Given the description of an element on the screen output the (x, y) to click on. 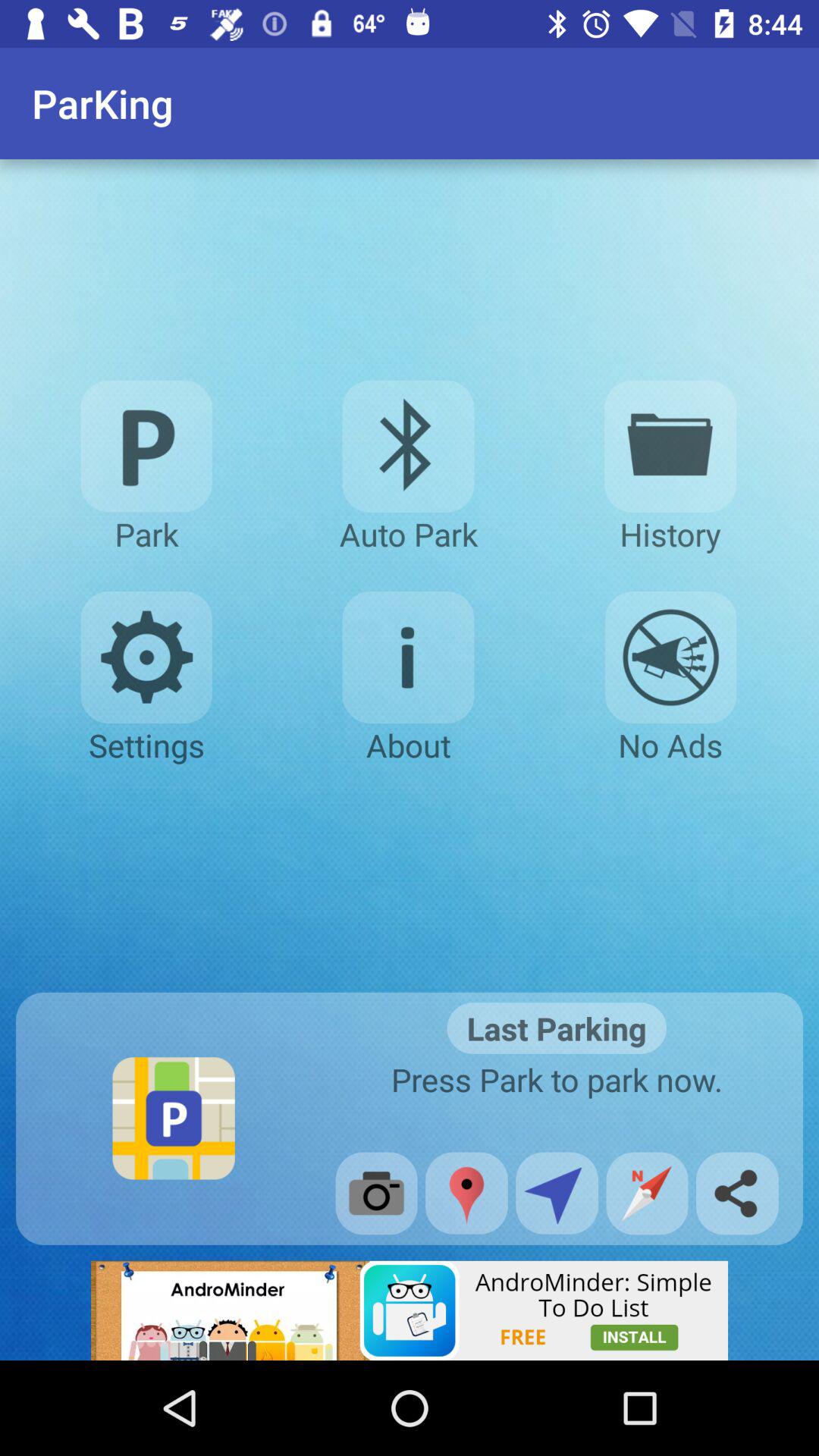
click to the location (466, 1193)
